Given the description of an element on the screen output the (x, y) to click on. 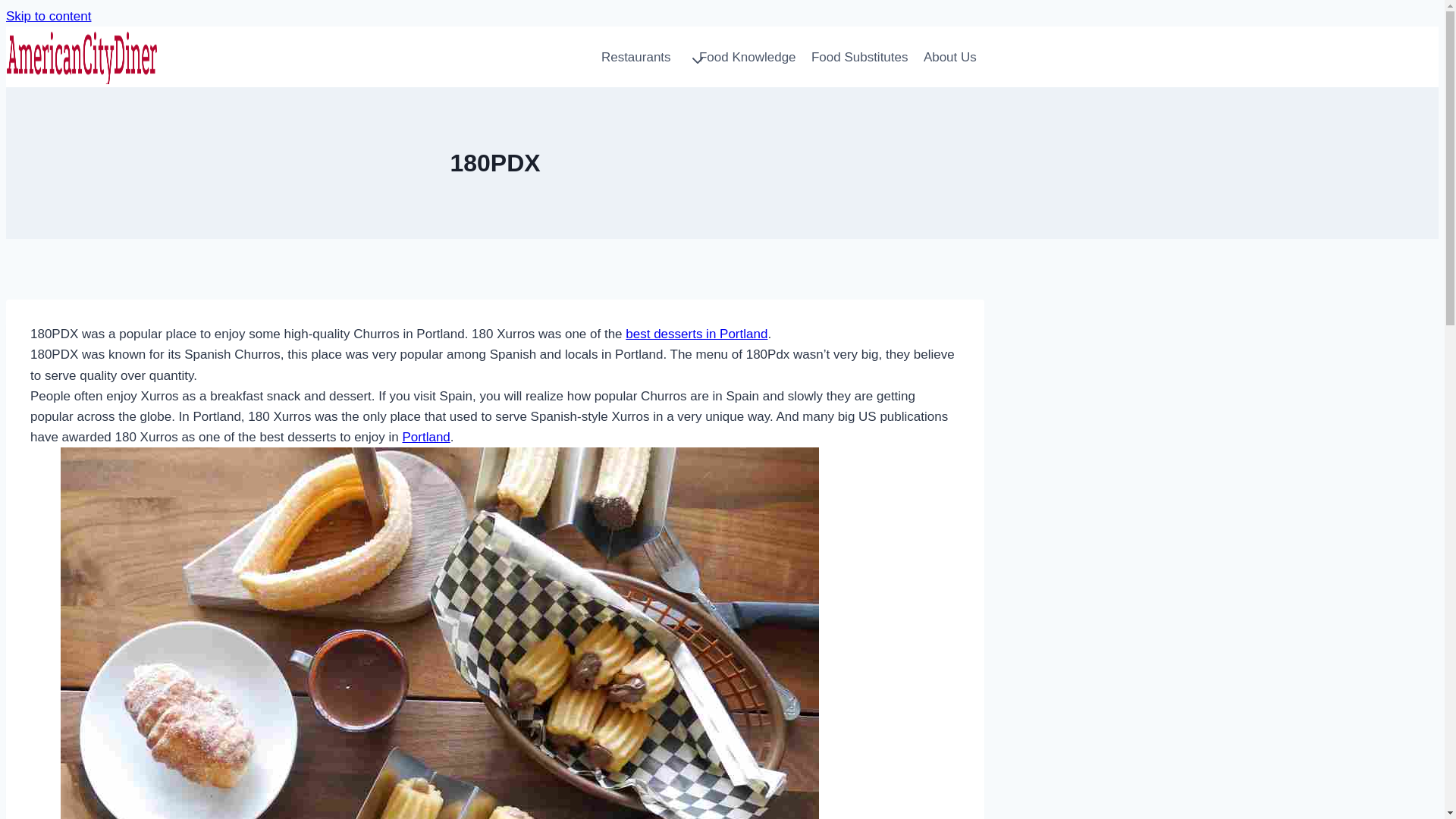
Skip to content Element type: text (48, 16)
Portland Element type: text (425, 436)
About Us Element type: text (958, 56)
Food Knowledge Element type: text (755, 56)
Food Substitutes Element type: text (867, 56)
Restaurants
Expand Element type: text (649, 56)
best desserts in Portland Element type: text (696, 333)
